Given the description of an element on the screen output the (x, y) to click on. 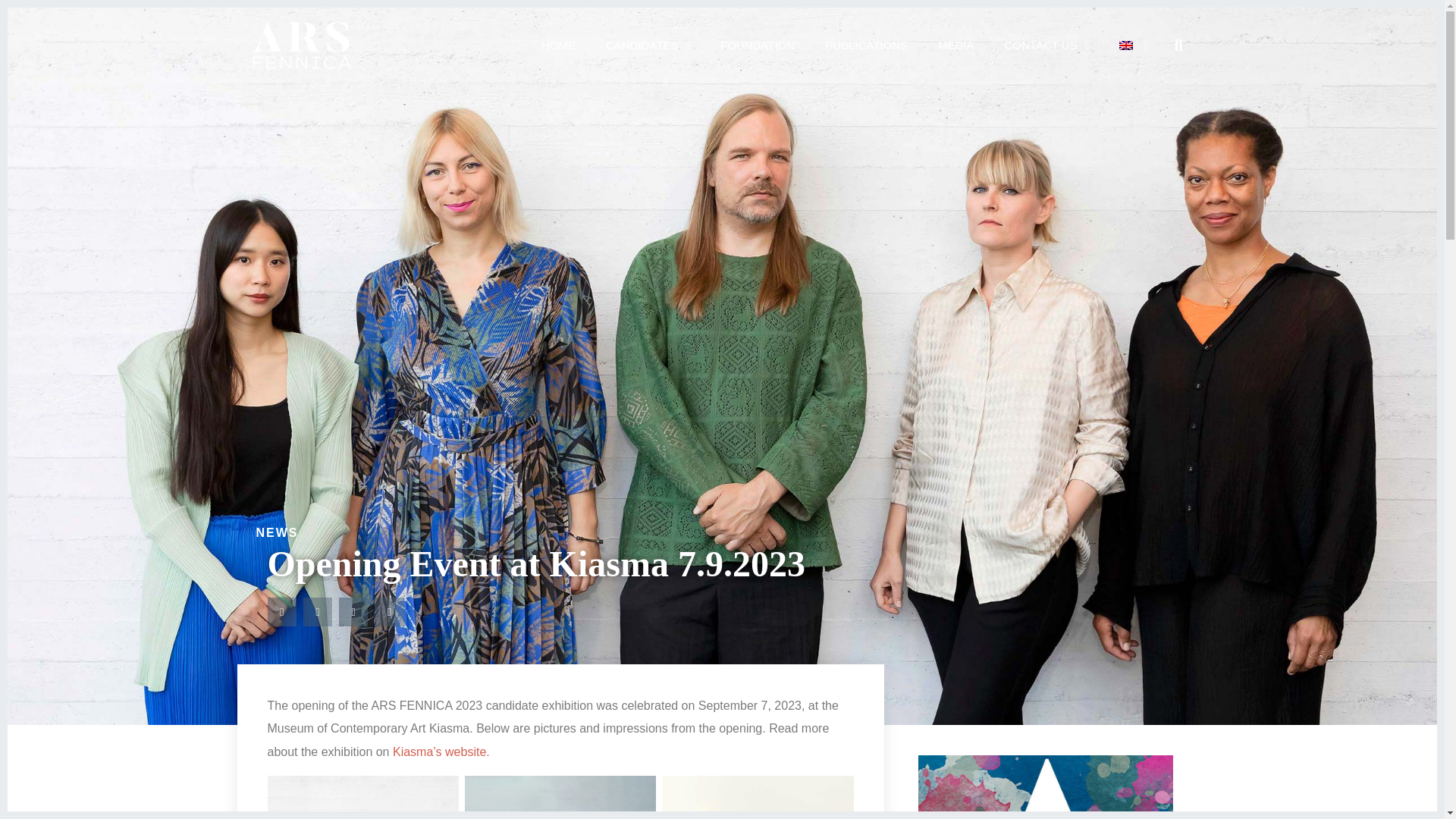
CANDIDATES (647, 45)
NEWS (277, 532)
CONTACT US (1047, 45)
FOUNDATION (756, 45)
PUBLICATIONS (866, 45)
